Given the description of an element on the screen output the (x, y) to click on. 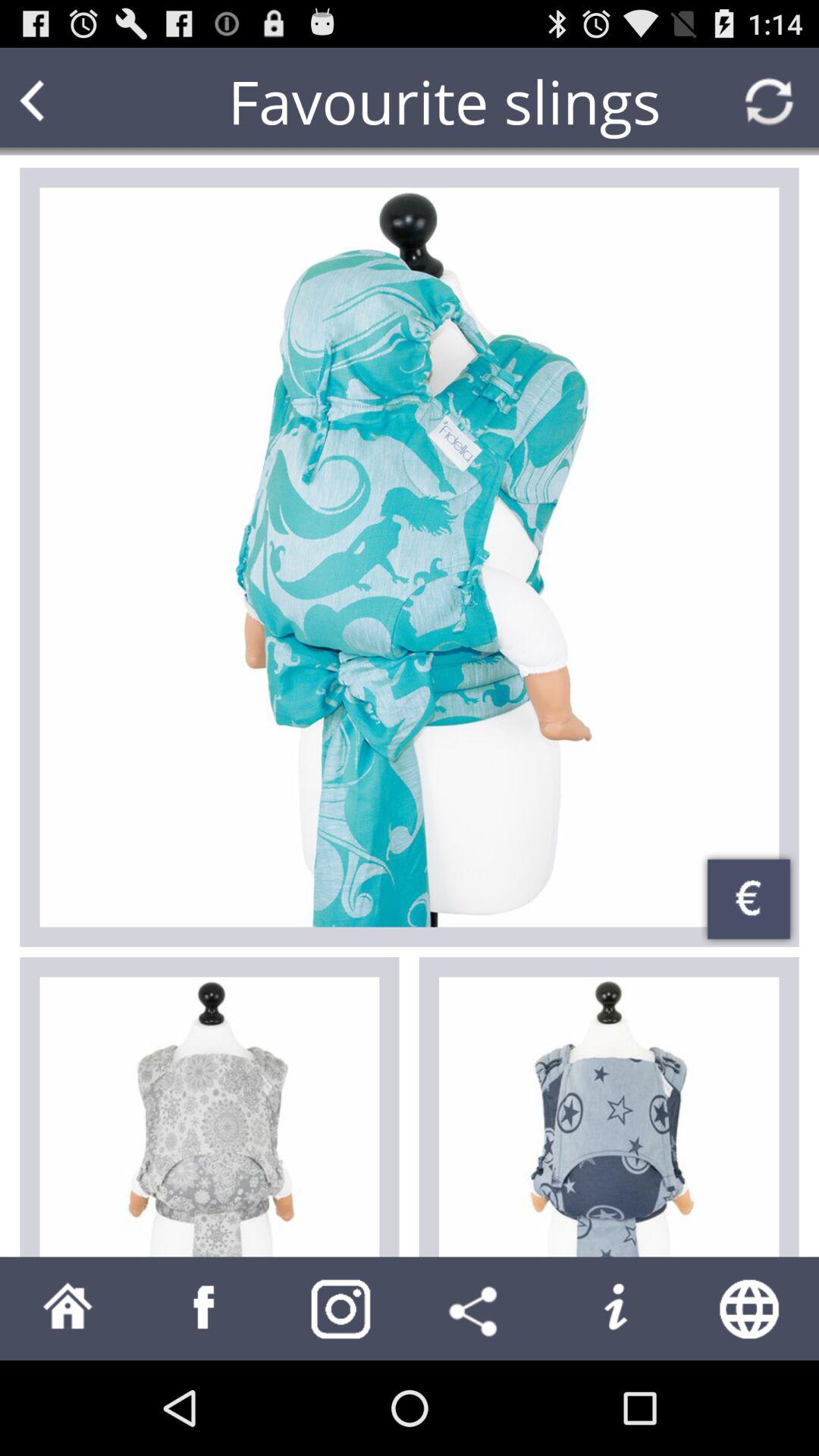
share to facebook (204, 1308)
